Given the description of an element on the screen output the (x, y) to click on. 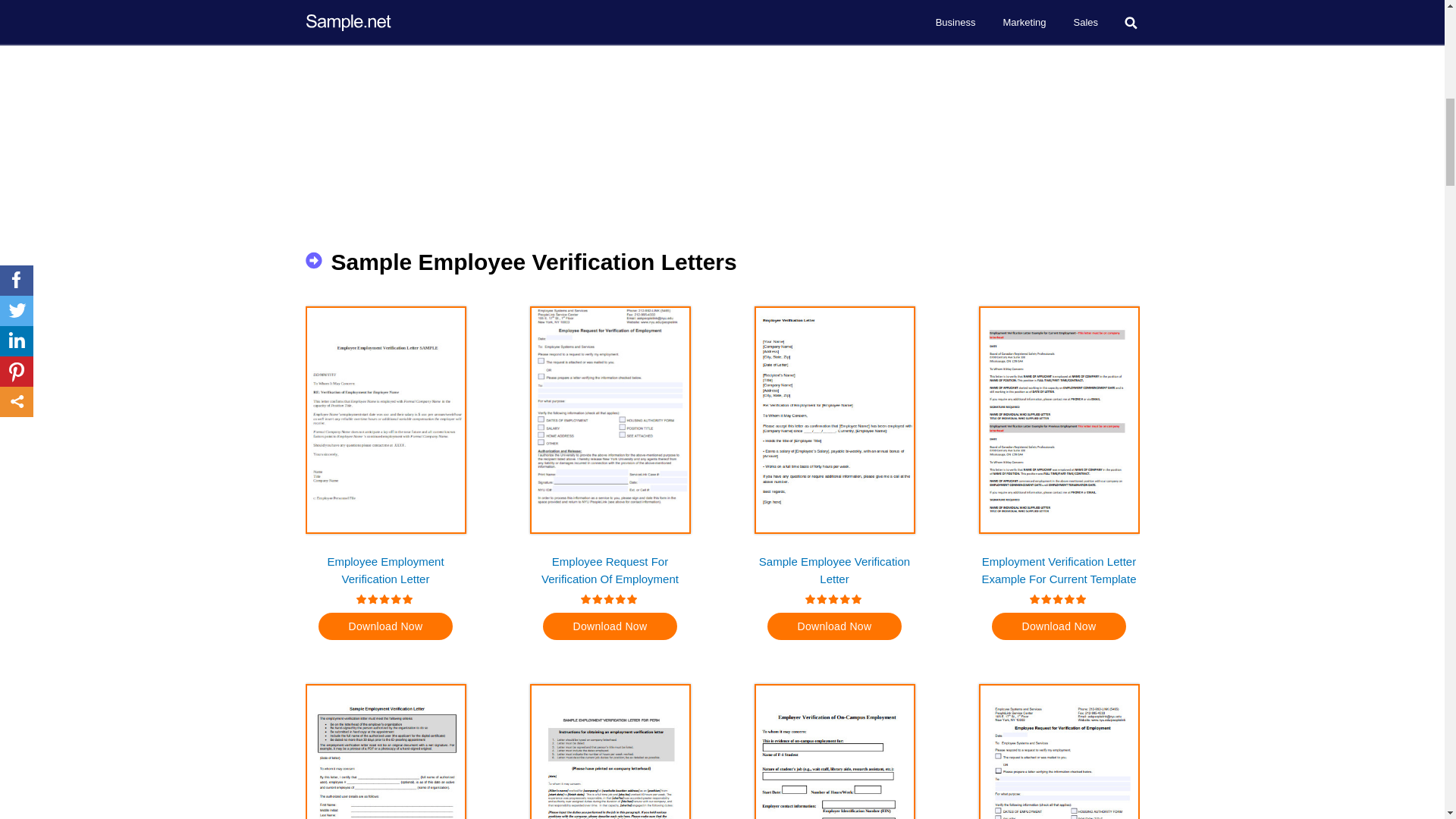
Download Now (834, 625)
Employee Request For Verification Of Employment Letter (609, 569)
Download Now (1058, 625)
Download Now (610, 625)
Employee Employment Verification Letter (384, 569)
Download Now (385, 625)
Sample Employee Verification Letter (834, 569)
Employment Verification Letter Example For Current Template (1058, 569)
